Given the description of an element on the screen output the (x, y) to click on. 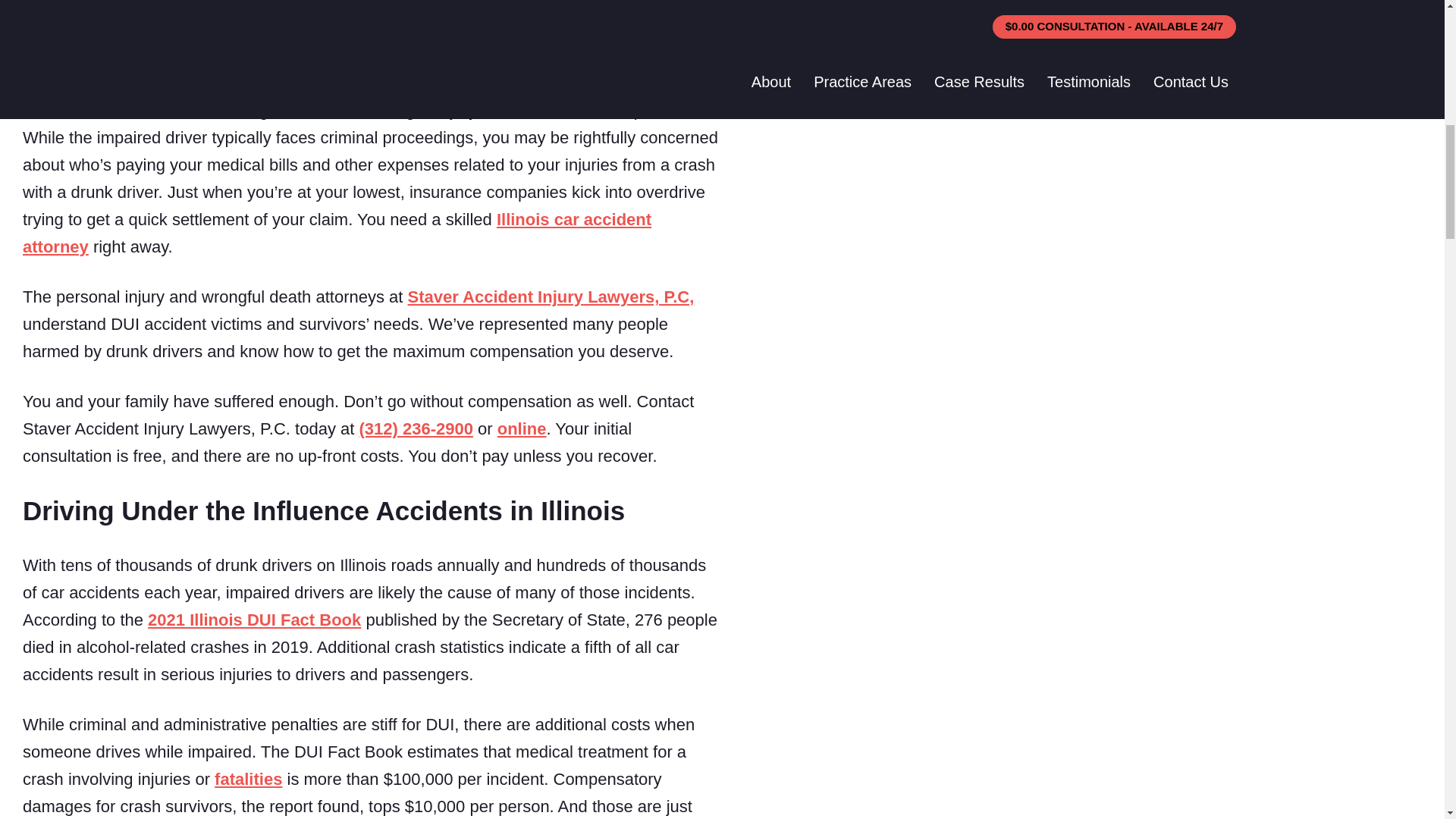
Illinois Car Accident Attorneys (336, 232)
Illinois car accident attorney (336, 232)
online (522, 428)
Illinois Car Accident Injury Lawyers (550, 296)
2021 Illinois DUI Fact Book (254, 619)
fatalities (248, 778)
Contact Staver Accident Injury Lawyers (522, 428)
Staver Accident Injury Lawyers, P.C, (550, 296)
Call Staver Accident Injury Lawyers - Today (414, 428)
2021 Illinois DUI Fact Book (254, 619)
